Given the description of an element on the screen output the (x, y) to click on. 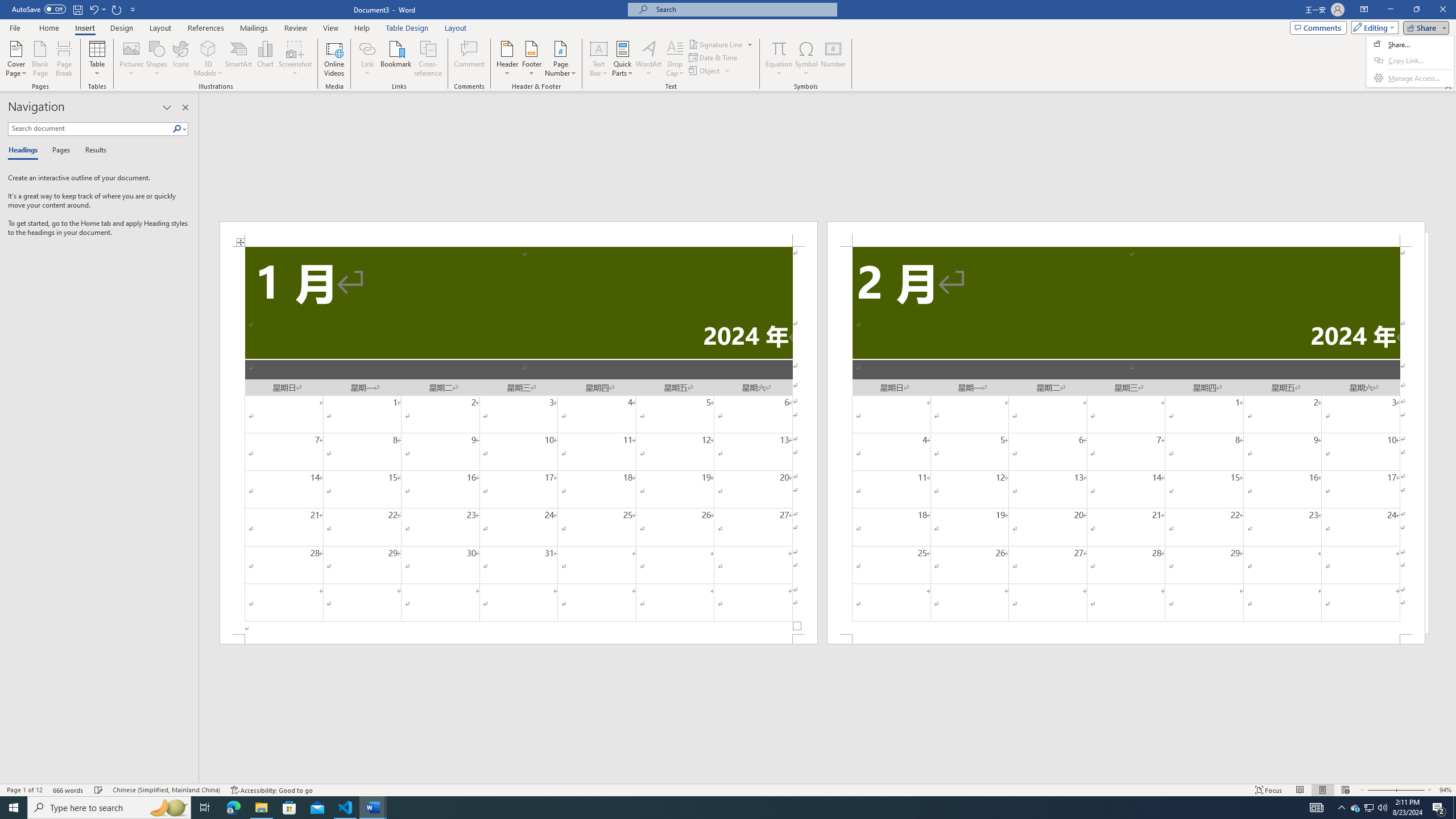
Page 1 content (518, 439)
Page Break (63, 58)
